Given the description of an element on the screen output the (x, y) to click on. 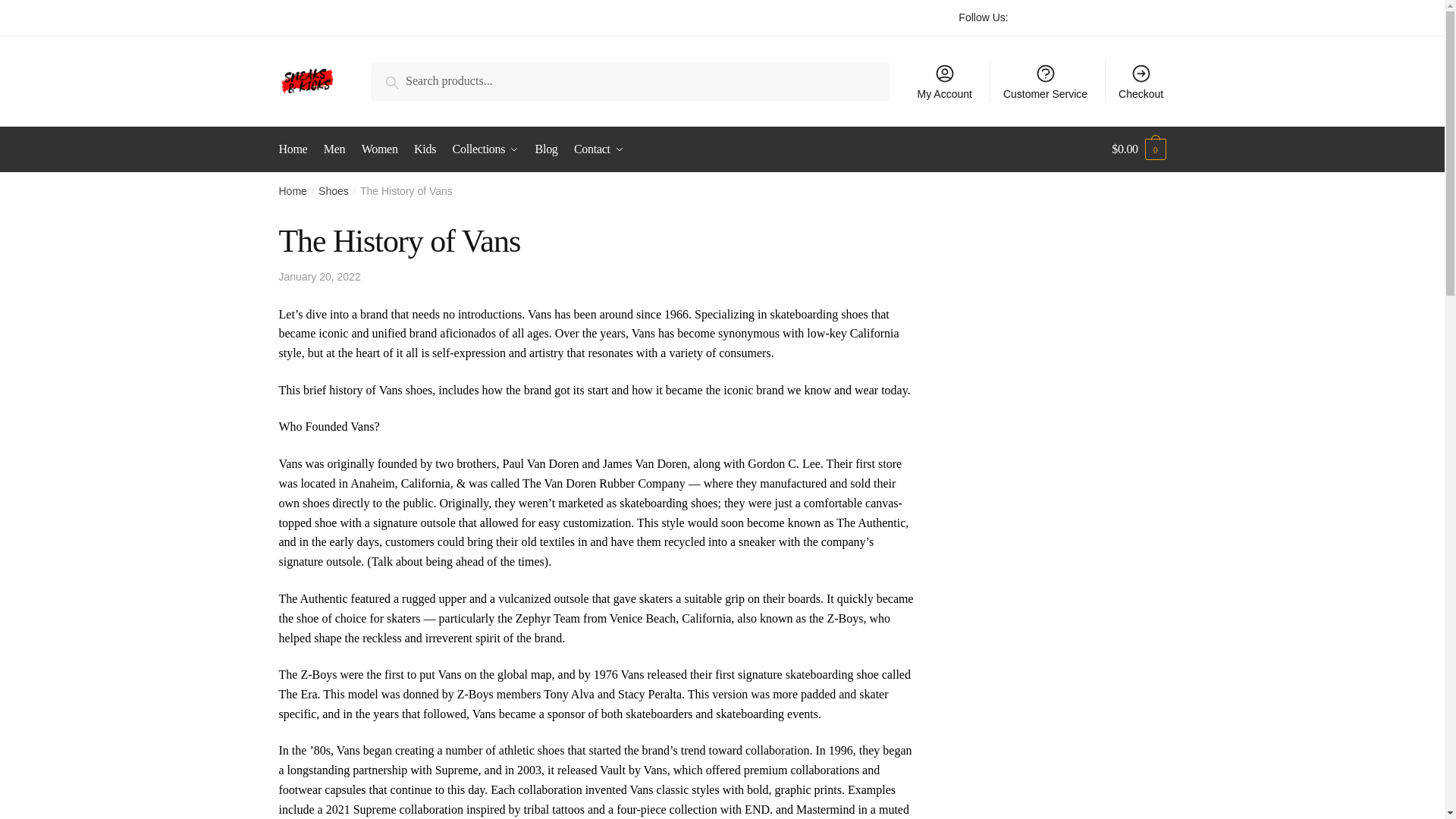
Home (293, 191)
Contact (598, 148)
Customer Service (1045, 80)
Checkout (1141, 80)
Women (379, 148)
Search (406, 79)
LinkedIn (1139, 17)
Collections (485, 148)
View your shopping cart (1139, 148)
Shoes (333, 191)
